Given the description of an element on the screen output the (x, y) to click on. 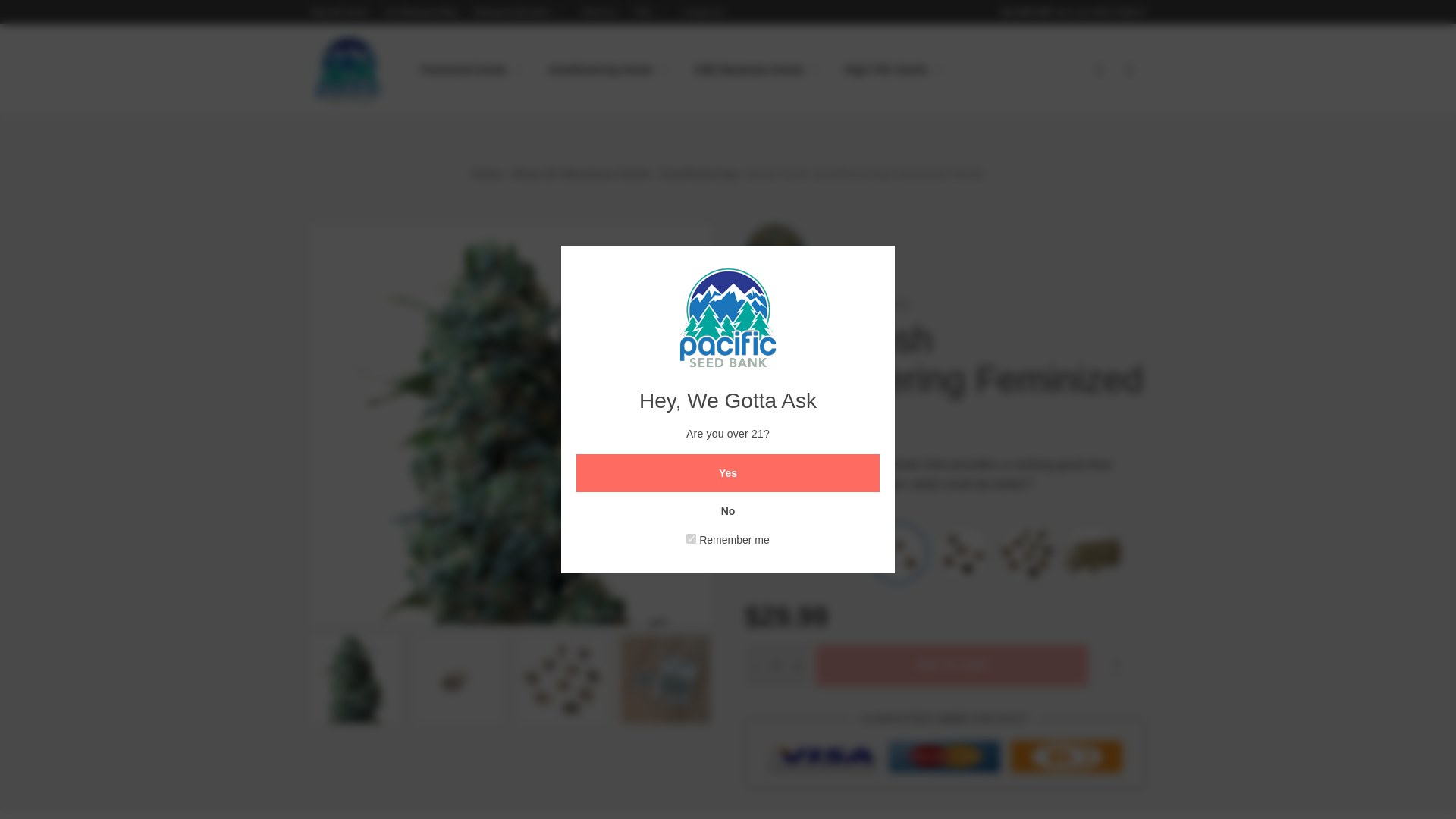
Our Marijuana Blog (421, 11)
Yes (727, 473)
1 (690, 538)
Contact Us (702, 11)
Pacific Seed Bank (349, 70)
Feminized Seeds (472, 69)
Shop All Seeds (339, 11)
FAQ (649, 11)
No (727, 510)
About Us (598, 11)
Marijuana Education (520, 11)
